Given the description of an element on the screen output the (x, y) to click on. 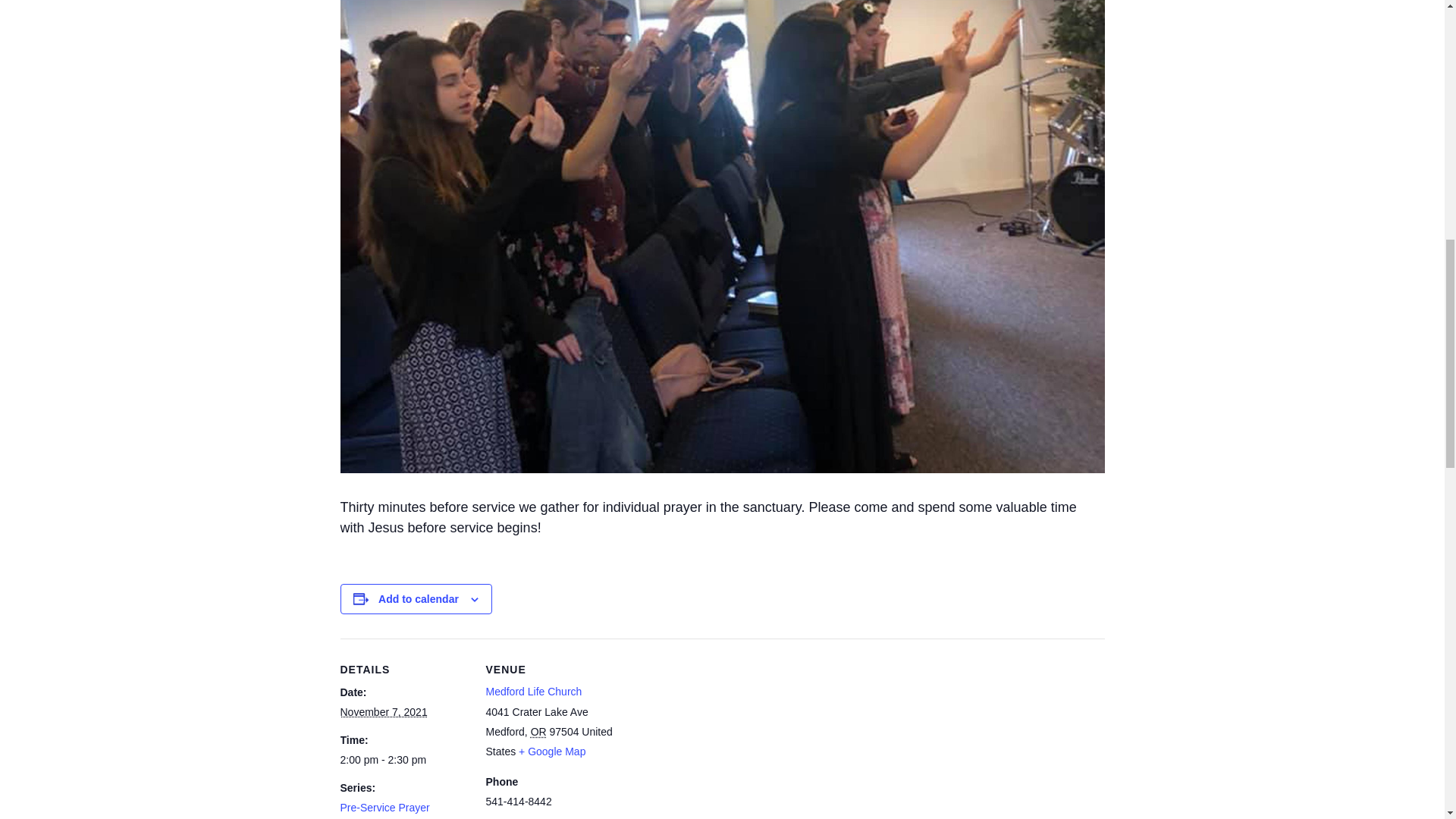
Add to calendar (418, 598)
Oregon (539, 731)
2021-11-07 (382, 711)
Pre-Service Prayer (384, 807)
Click to view a Google Map (551, 751)
Medford Life Church (532, 691)
2021-11-07 (403, 759)
Pre-Service Prayer (384, 807)
